Given the description of an element on the screen output the (x, y) to click on. 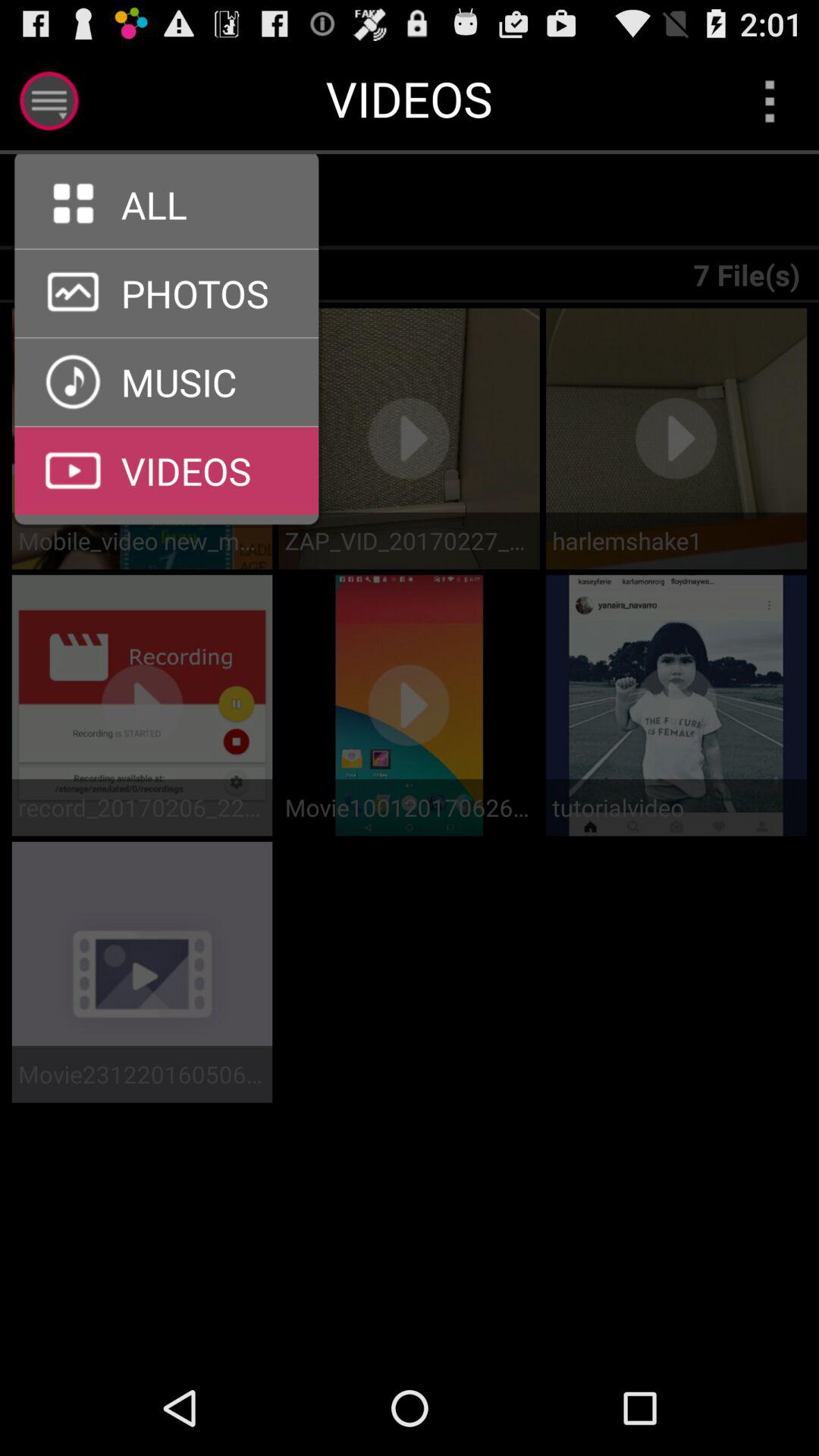
turn on movie23122016050602 icon (141, 1073)
